Given the description of an element on the screen output the (x, y) to click on. 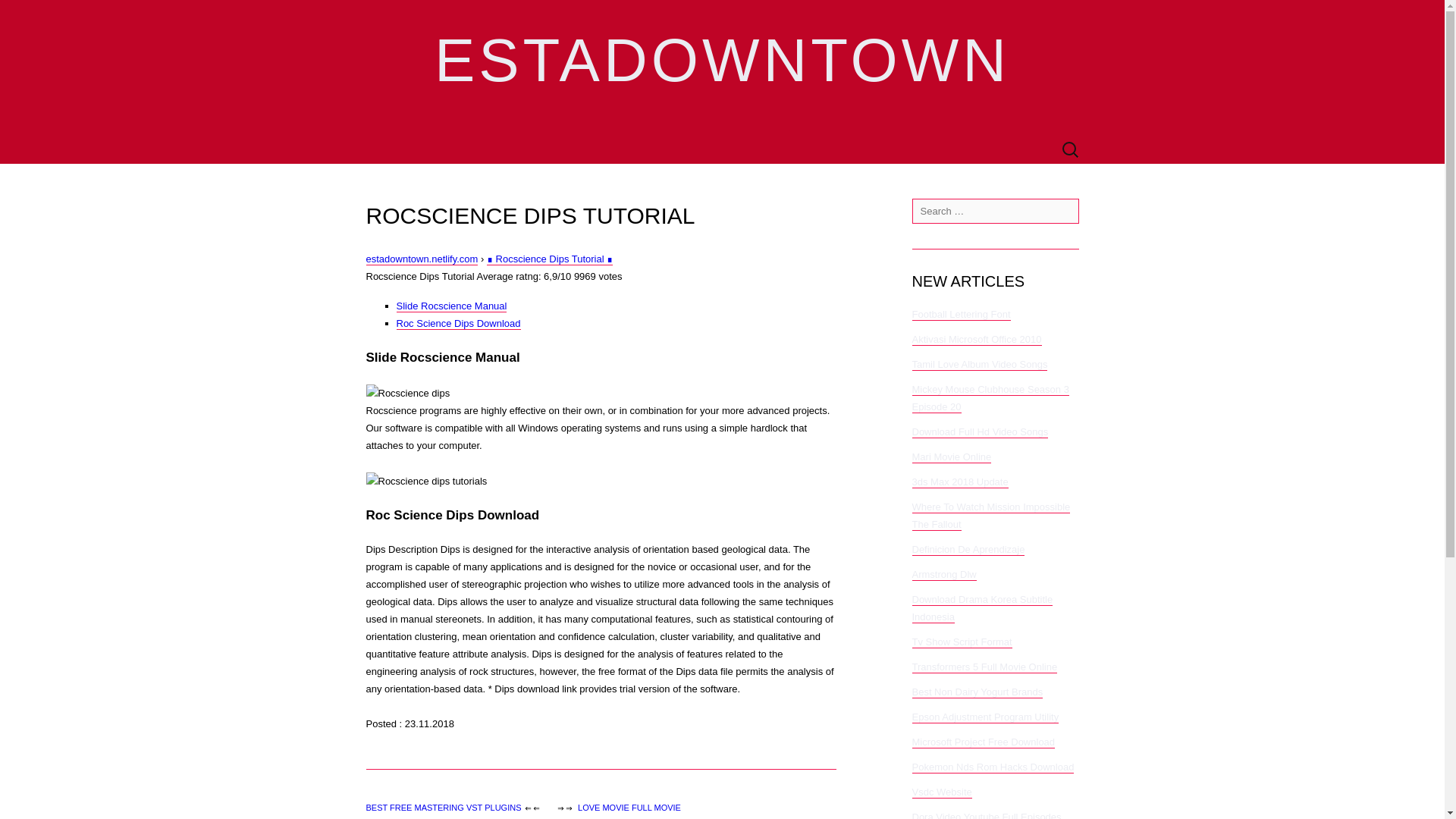
Roc Science Dips Download (457, 323)
Search (39, 12)
Mickey Mouse Clubhouse Season 3 Episode 20 (989, 398)
Epson Adjustment Program Utility (984, 717)
Download Drama Korea Subtitle Indonesia (981, 608)
Best Non Dairy Yogurt Brands (976, 692)
Tamil Love Album Video Songs (978, 364)
Transformers 5 Full Movie Online (984, 666)
Tv Show Script Format (961, 642)
Download Full Hd Video Songs (979, 431)
Mari Movie Online (951, 457)
Where To Watch Mission Impossible The Fallout (990, 515)
ESTADOWNTOWN (722, 68)
Rocscience dips (407, 393)
estadowntown (722, 68)
